Given the description of an element on the screen output the (x, y) to click on. 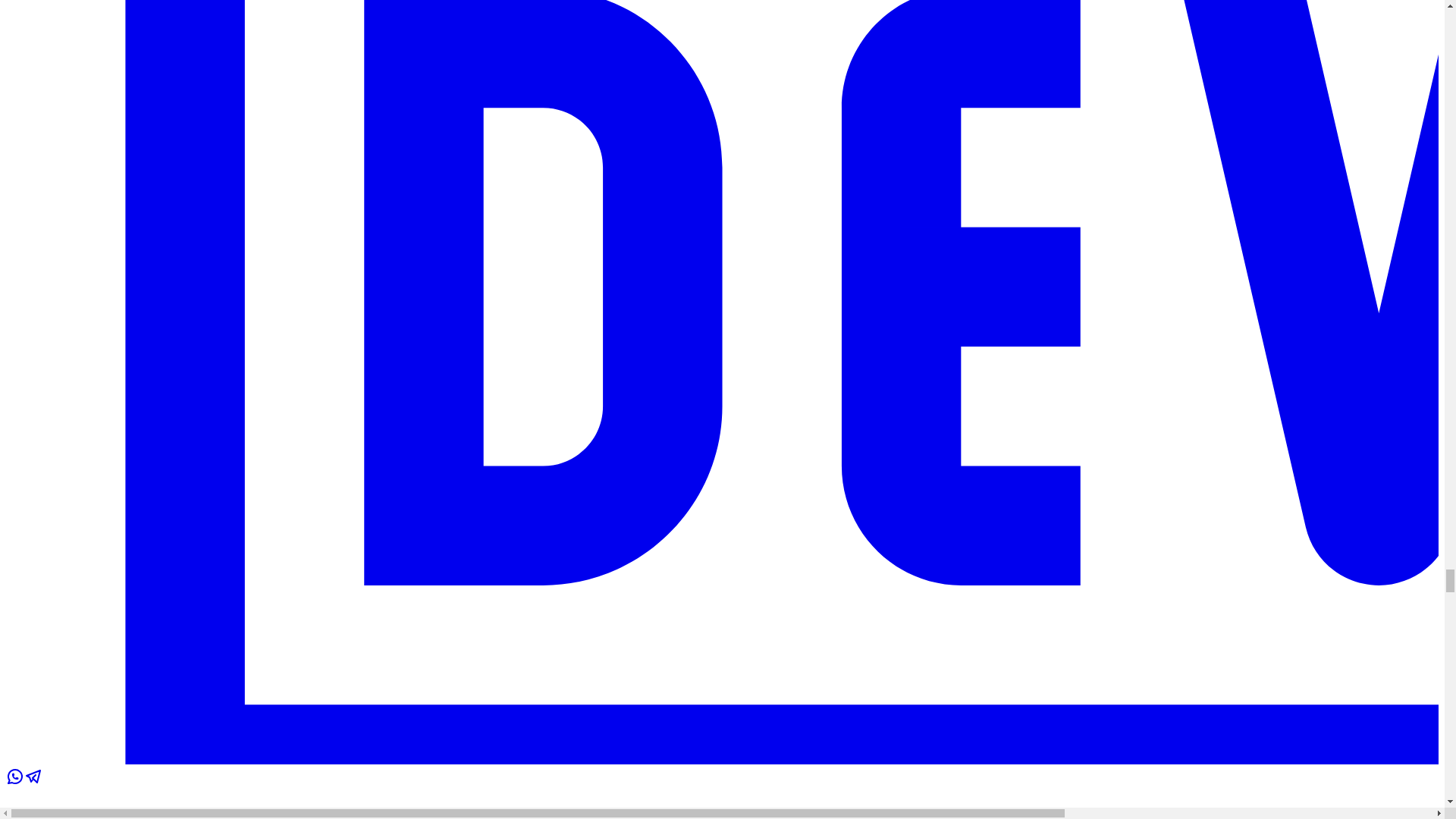
Free Udemy Courses by TheProgrammingBuddyClub on Telegram (33, 780)
Free Udemy Courses by TheProgrammingBuddyClub on whatsapp (14, 780)
